Given the description of an element on the screen output the (x, y) to click on. 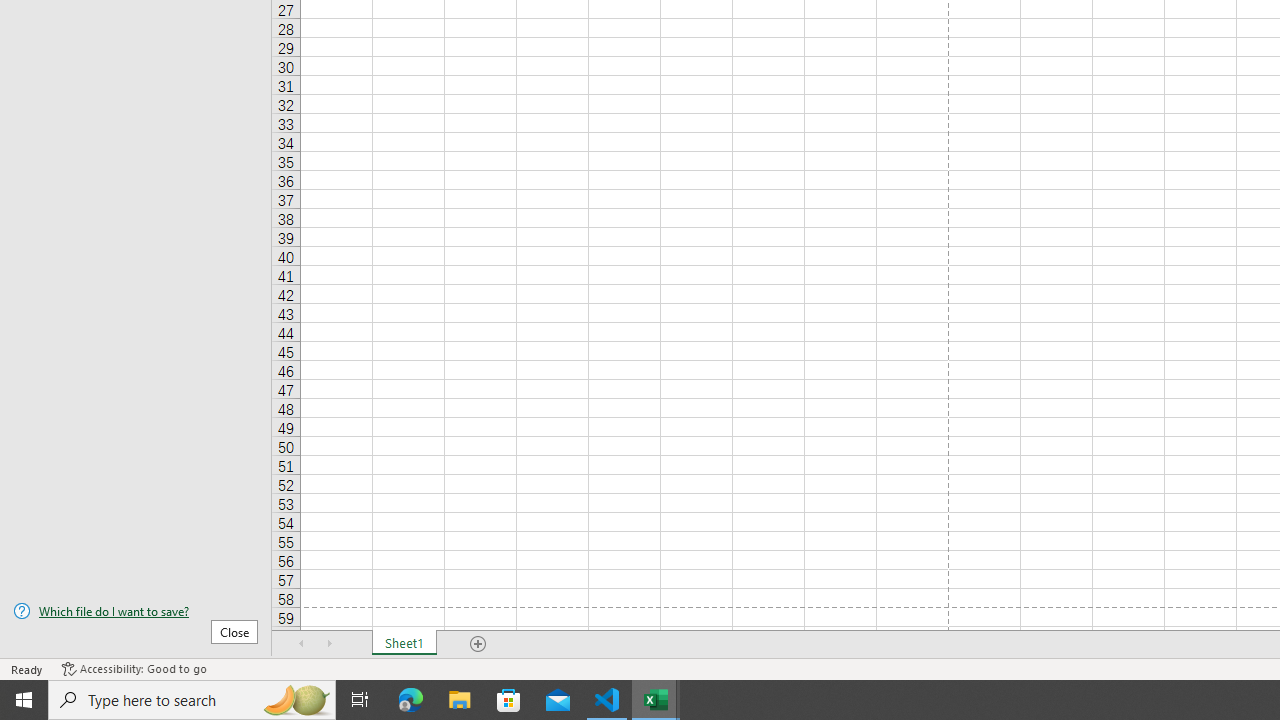
Type here to search (191, 699)
File Explorer (460, 699)
Microsoft Edge (411, 699)
Start (24, 699)
Microsoft Store (509, 699)
Task View (359, 699)
Excel - 2 running windows (656, 699)
Search highlights icon opens search home window (295, 699)
Visual Studio Code - 1 running window (607, 699)
